Given the description of an element on the screen output the (x, y) to click on. 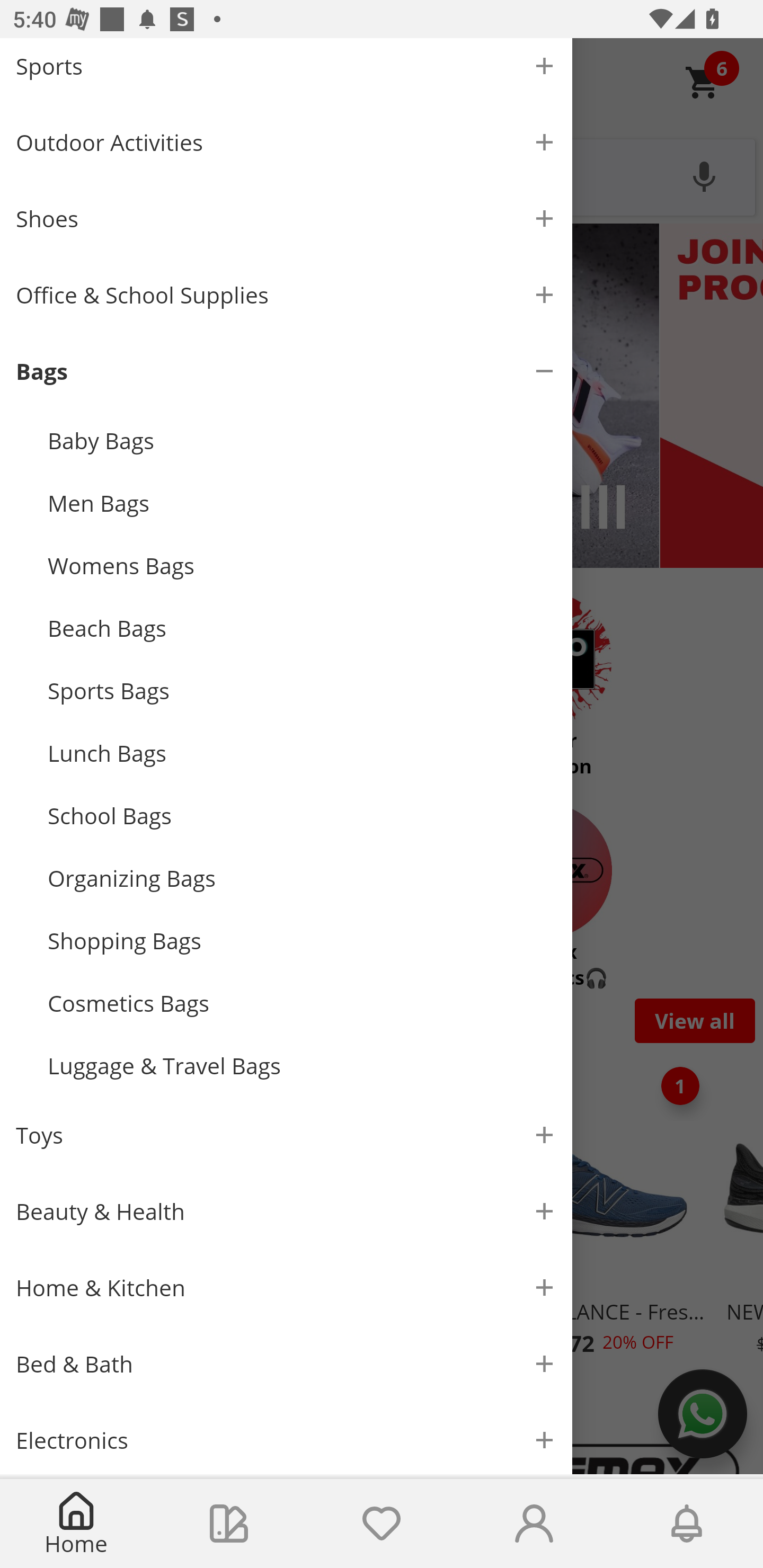
Sports (286, 71)
Outdoor Activities (286, 142)
Shoes (286, 218)
Office & School Supplies (286, 294)
Baby Bags (302, 440)
Men Bags (302, 502)
Womens Bags (302, 565)
Beach Bags (302, 628)
Sports Bags (302, 690)
Lunch Bags (302, 752)
School Bags (302, 815)
Organizing Bags (302, 877)
Shopping Bags (302, 940)
Cosmetics Bags (302, 1003)
Luggage & Travel Bags (302, 1065)
Toys (286, 1134)
Beauty & Health (286, 1210)
Home & Kitchen (286, 1287)
Bed & Bath (286, 1363)
Electronics (286, 1437)
Collections (228, 1523)
Wishlist (381, 1523)
Account (533, 1523)
Notifications (686, 1523)
